Given the description of an element on the screen output the (x, y) to click on. 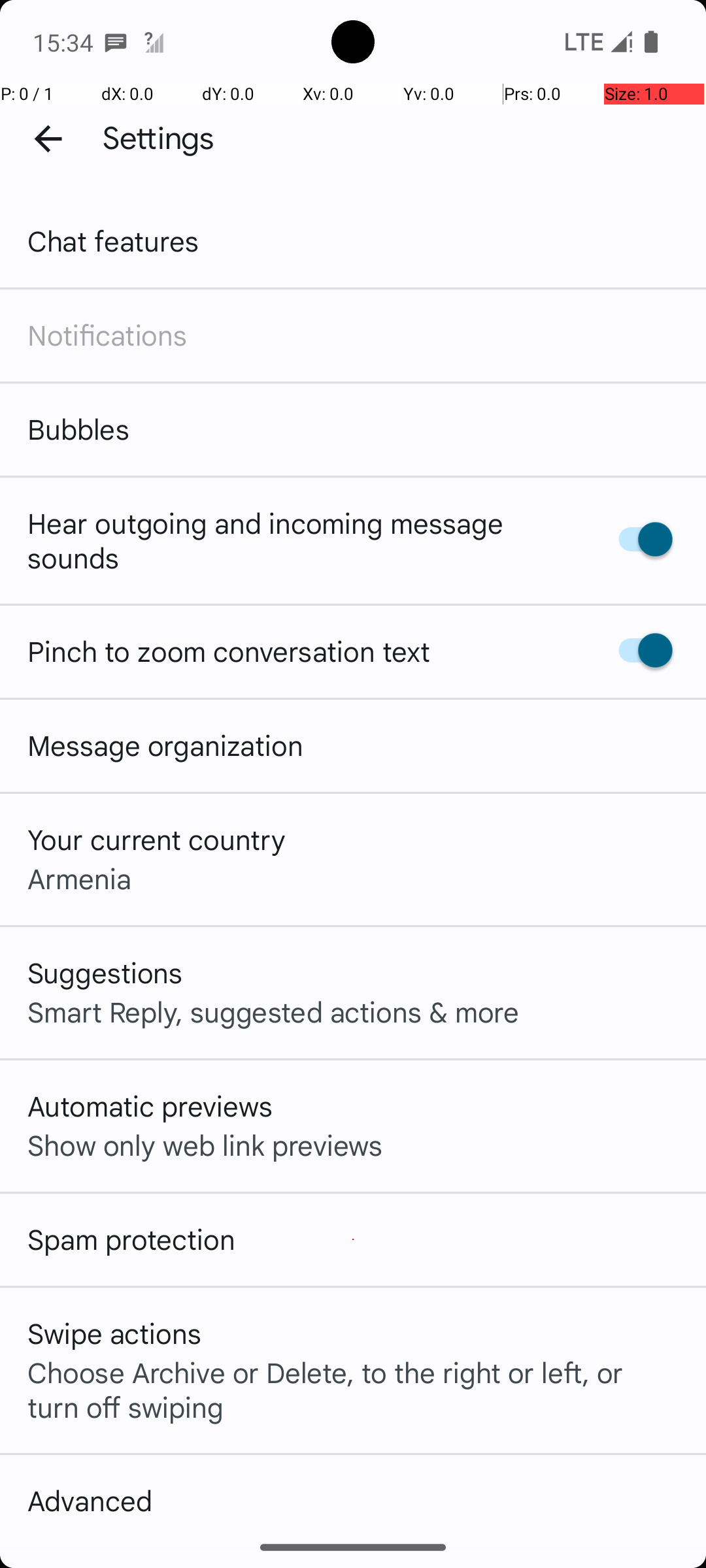
Chat features Element type: android.widget.TextView (113, 240)
Hear outgoing and incoming message sounds Element type: android.widget.TextView (299, 539)
Pinch to zoom conversation text Element type: android.widget.TextView (228, 650)
Message organization Element type: android.widget.TextView (165, 744)
Your current country Element type: android.widget.TextView (156, 838)
Armenia Element type: android.widget.TextView (79, 877)
Smart Reply, suggested actions & more Element type: android.widget.TextView (273, 1010)
Automatic previews Element type: android.widget.TextView (149, 1105)
Show only web link previews Element type: android.widget.TextView (205, 1144)
Spam protection Element type: android.widget.TextView (131, 1238)
Swipe actions Element type: android.widget.TextView (114, 1332)
Choose Archive or Delete, to the right or left, or turn off swiping Element type: android.widget.TextView (352, 1388)
